Given the description of an element on the screen output the (x, y) to click on. 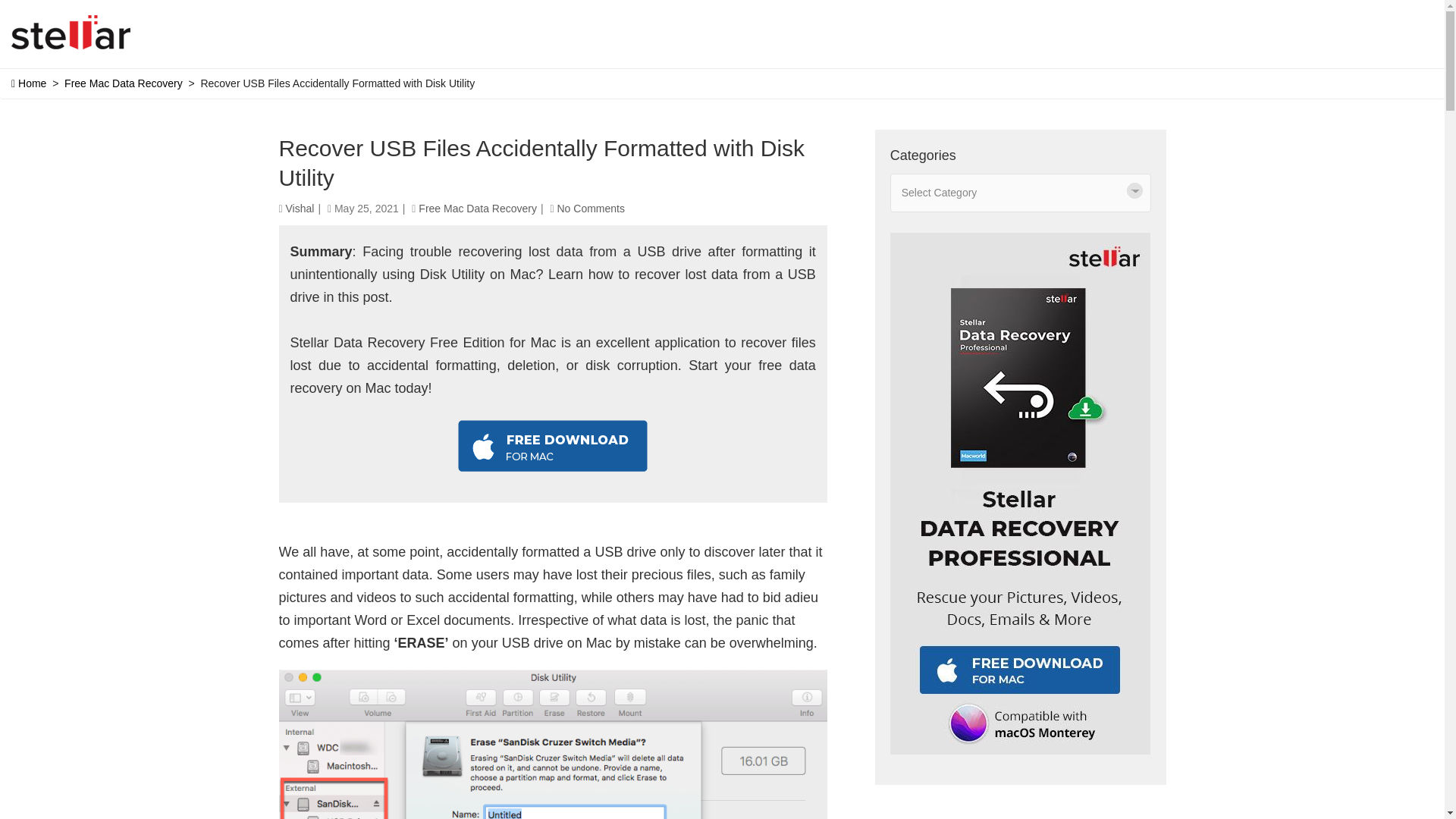
Posts by Vishal (299, 208)
Free Mac Data Recovery (478, 208)
No Comments (590, 208)
Free Mac Data Recovery (123, 82)
 Home (28, 82)
Vishal (299, 208)
